Given the description of an element on the screen output the (x, y) to click on. 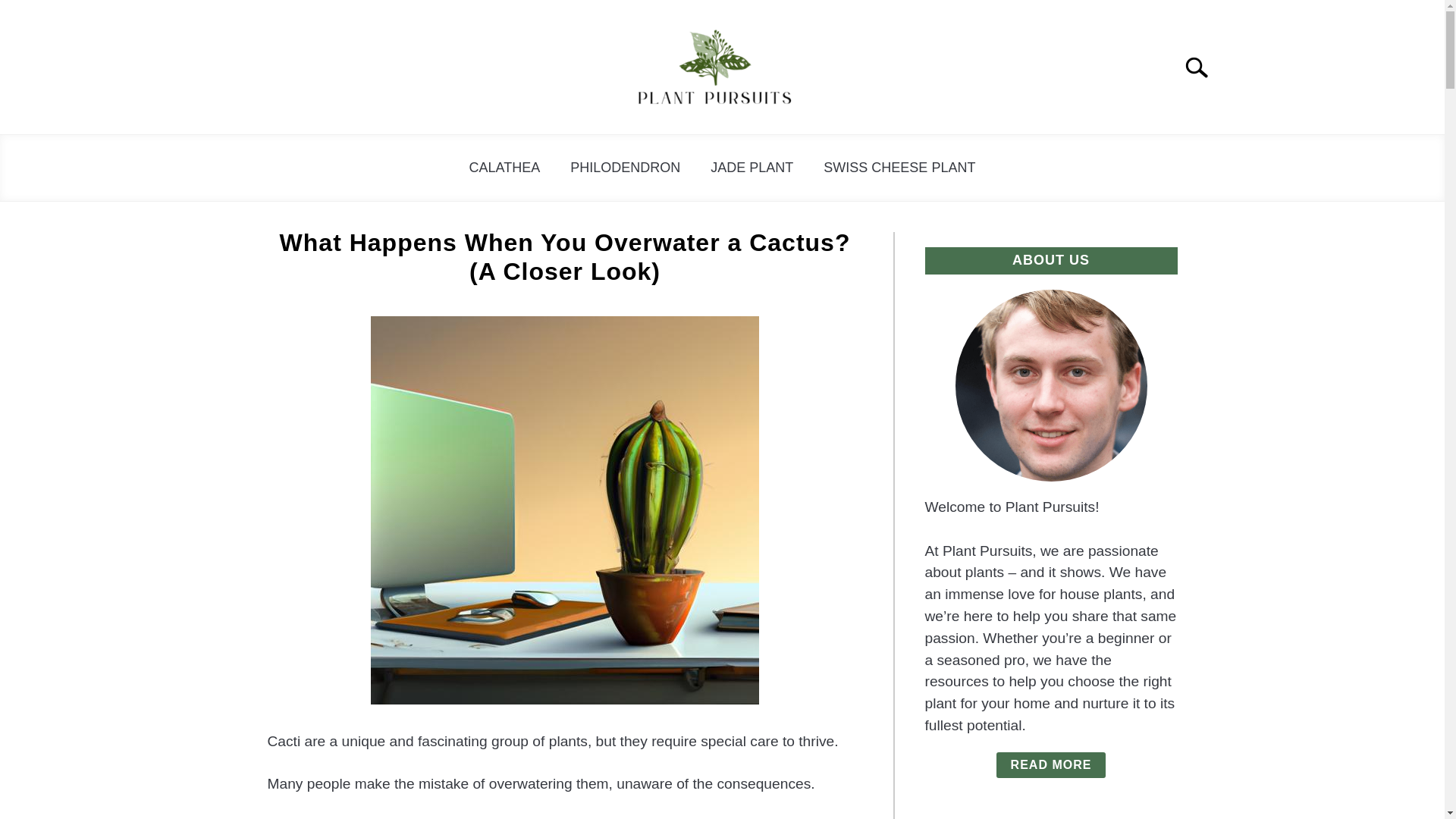
Search (1203, 67)
CALATHEA (505, 167)
PHILODENDRON (624, 167)
JADE PLANT (751, 167)
SWISS CHEESE PLANT (899, 167)
READ MORE (1050, 765)
